Given the description of an element on the screen output the (x, y) to click on. 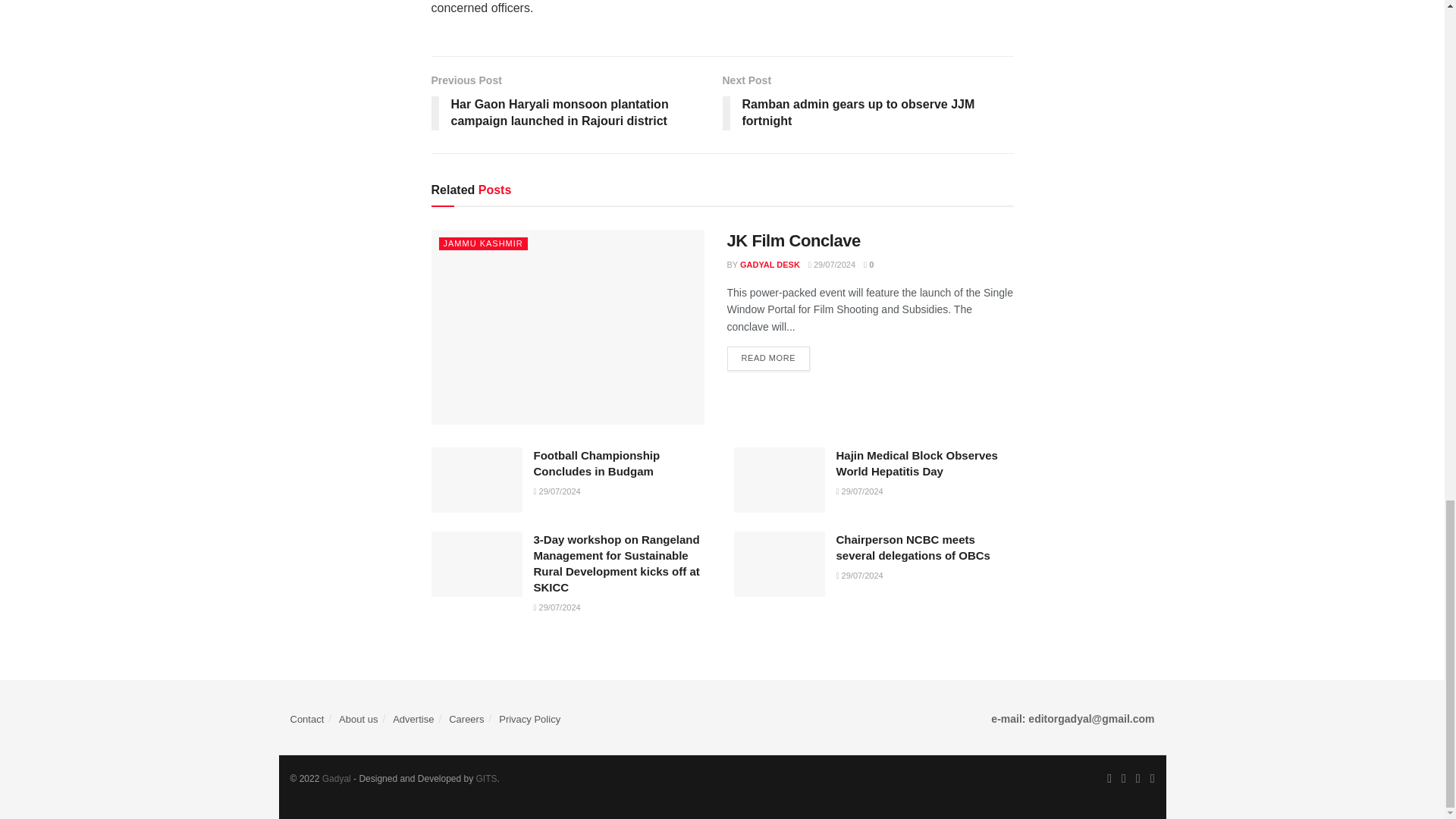
Gabfire IT Solutions (486, 778)
Daily Gadyal (335, 778)
